Given the description of an element on the screen output the (x, y) to click on. 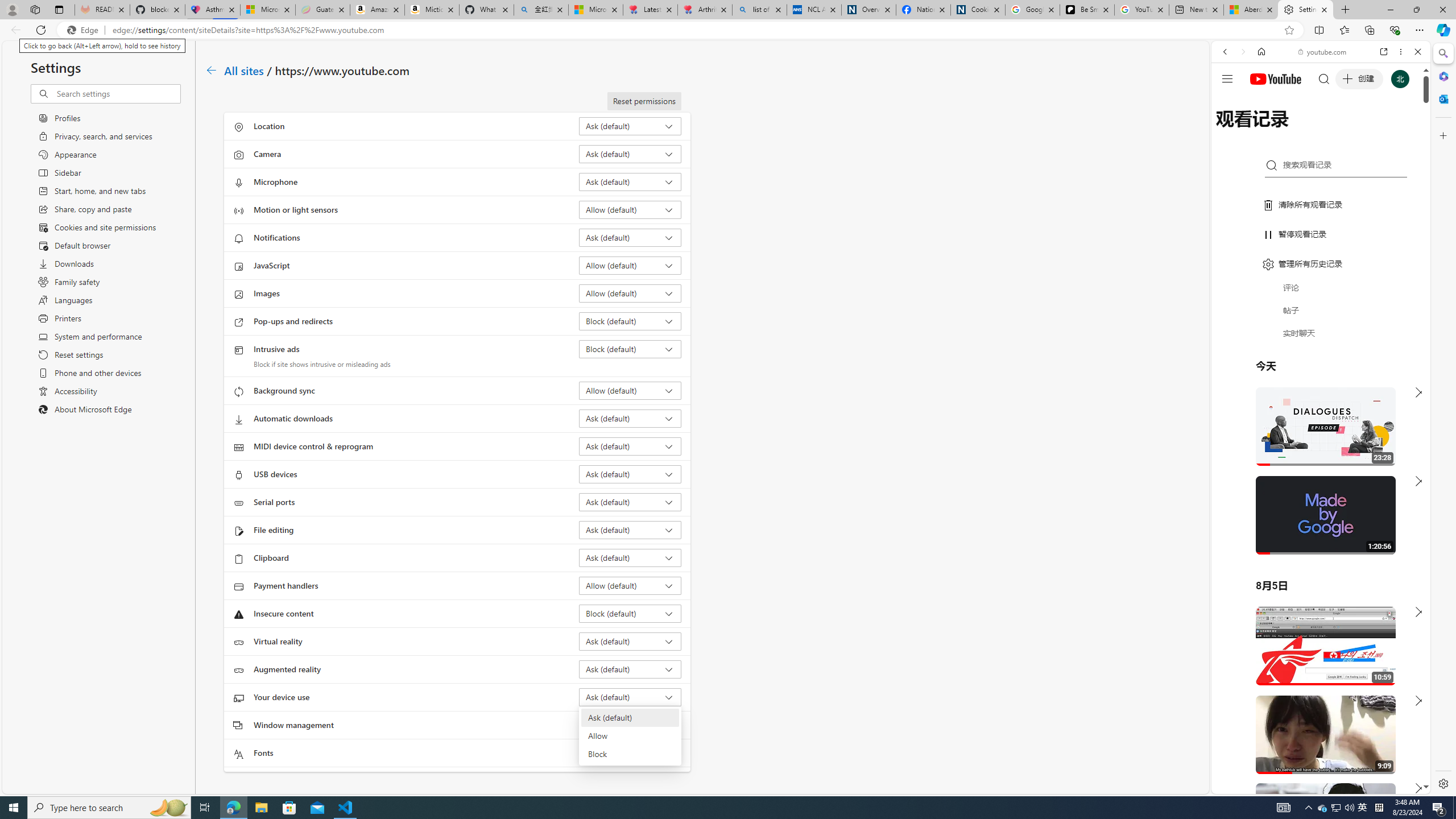
Augmented reality Ask (default) (630, 669)
Forward (1242, 51)
MIDI device control & reprogram Ask (default) (630, 446)
Asthma Inhalers: Names and Types (212, 9)
USB devices Ask (default) (630, 474)
Location Ask (default) (630, 126)
Class: c01162 (210, 70)
Automatic downloads Ask (default) (630, 418)
Microsoft-Report a Concern to Bing (267, 9)
WEB   (1230, 130)
Actions for this site (1371, 661)
